Given the description of an element on the screen output the (x, y) to click on. 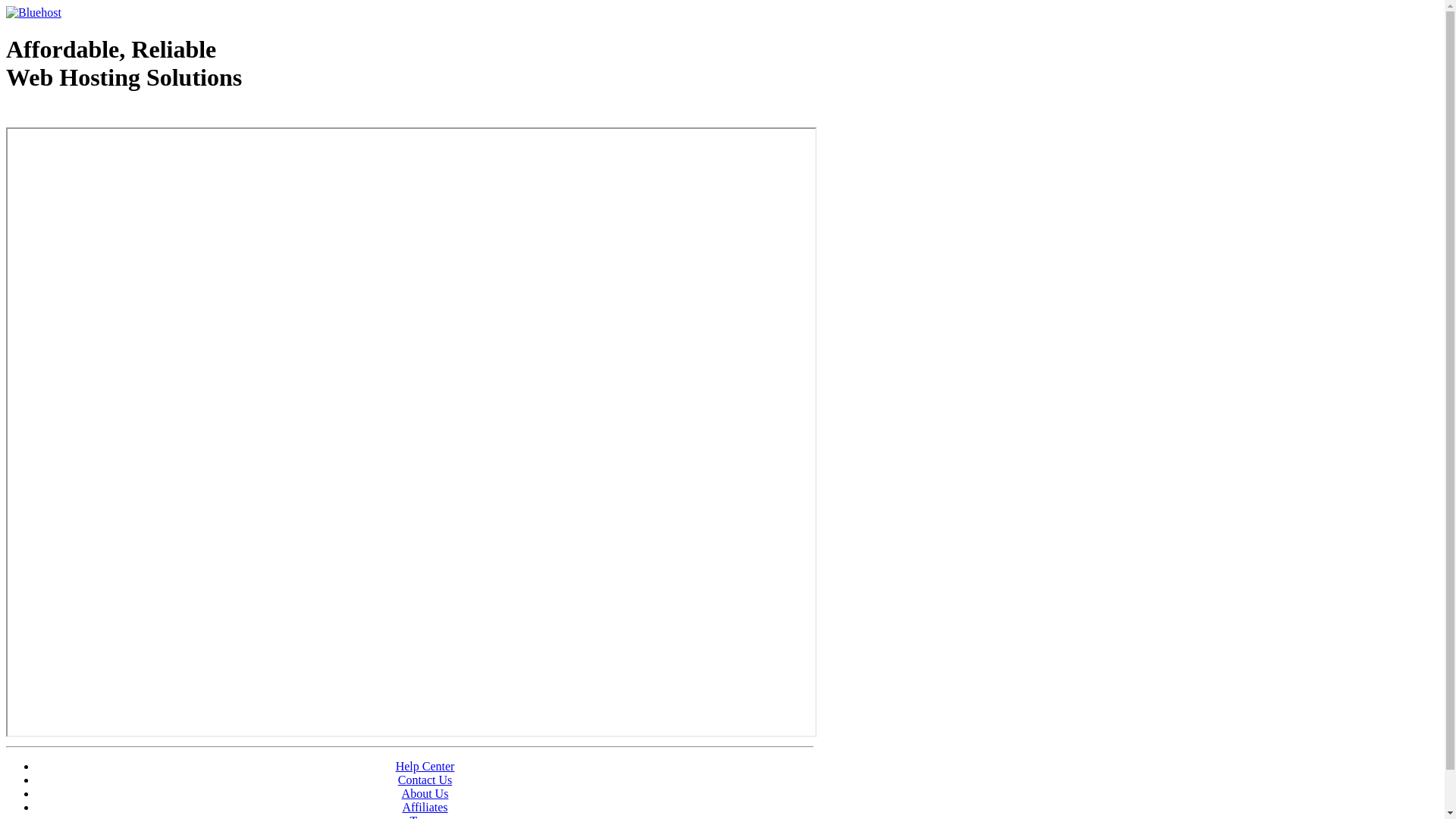
Web Hosting - courtesy of www.bluehost.com Element type: text (94, 115)
About Us Element type: text (424, 793)
Affiliates Element type: text (424, 806)
Contact Us Element type: text (425, 779)
Help Center Element type: text (425, 765)
